Given the description of an element on the screen output the (x, y) to click on. 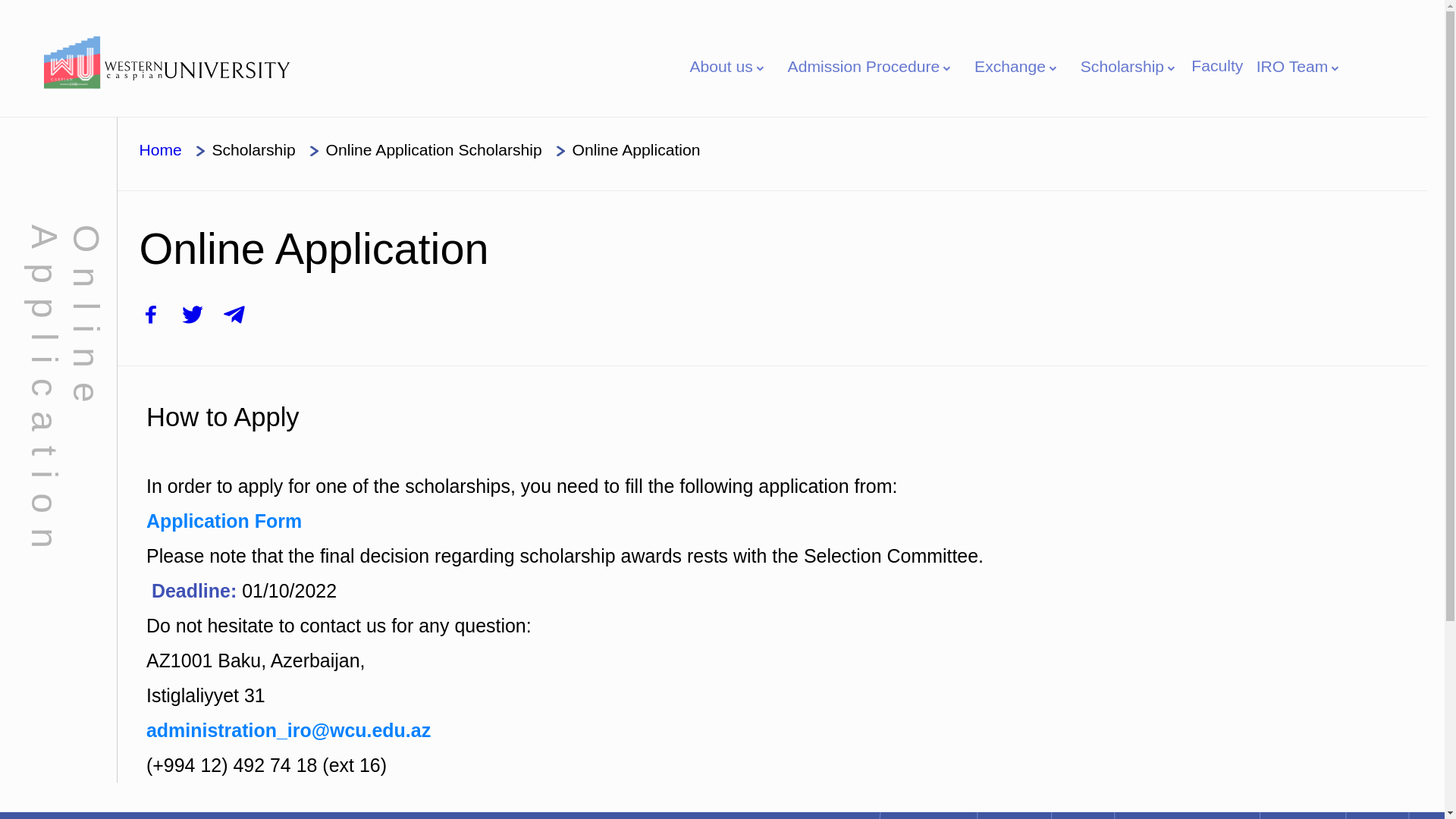
Scholarship Element type: text (1129, 66)
Online Application Scholarship Element type: text (434, 150)
About us Element type: text (728, 66)
Application Form Element type: text (223, 520)
Admission Procedure Element type: text (870, 66)
IRO Team Element type: text (1298, 66)
Online Application Element type: text (636, 150)
Exchange Element type: text (1016, 66)
administration_iro@wcu.edu.az Element type: text (288, 729)
Faculty Element type: text (1216, 65)
Home Element type: text (159, 150)
Scholarship Element type: text (252, 150)
